Given the description of an element on the screen output the (x, y) to click on. 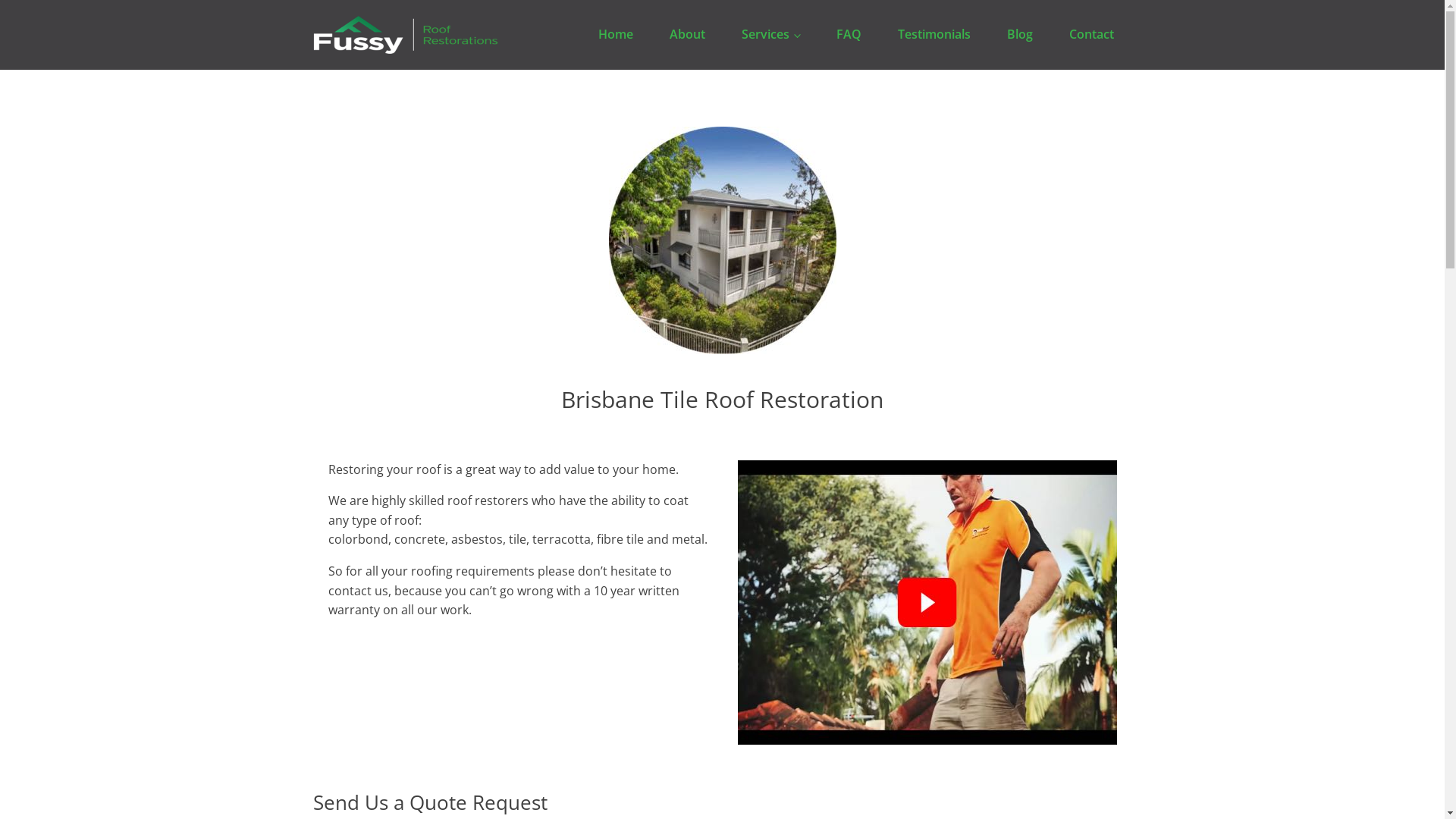
Services Element type: text (770, 34)
About Element type: text (687, 34)
Contact Element type: text (1091, 34)
FAQ Element type: text (847, 34)
Testimonials Element type: text (933, 34)
Home Element type: text (615, 34)
Blog Element type: text (1019, 34)
